Given the description of an element on the screen output the (x, y) to click on. 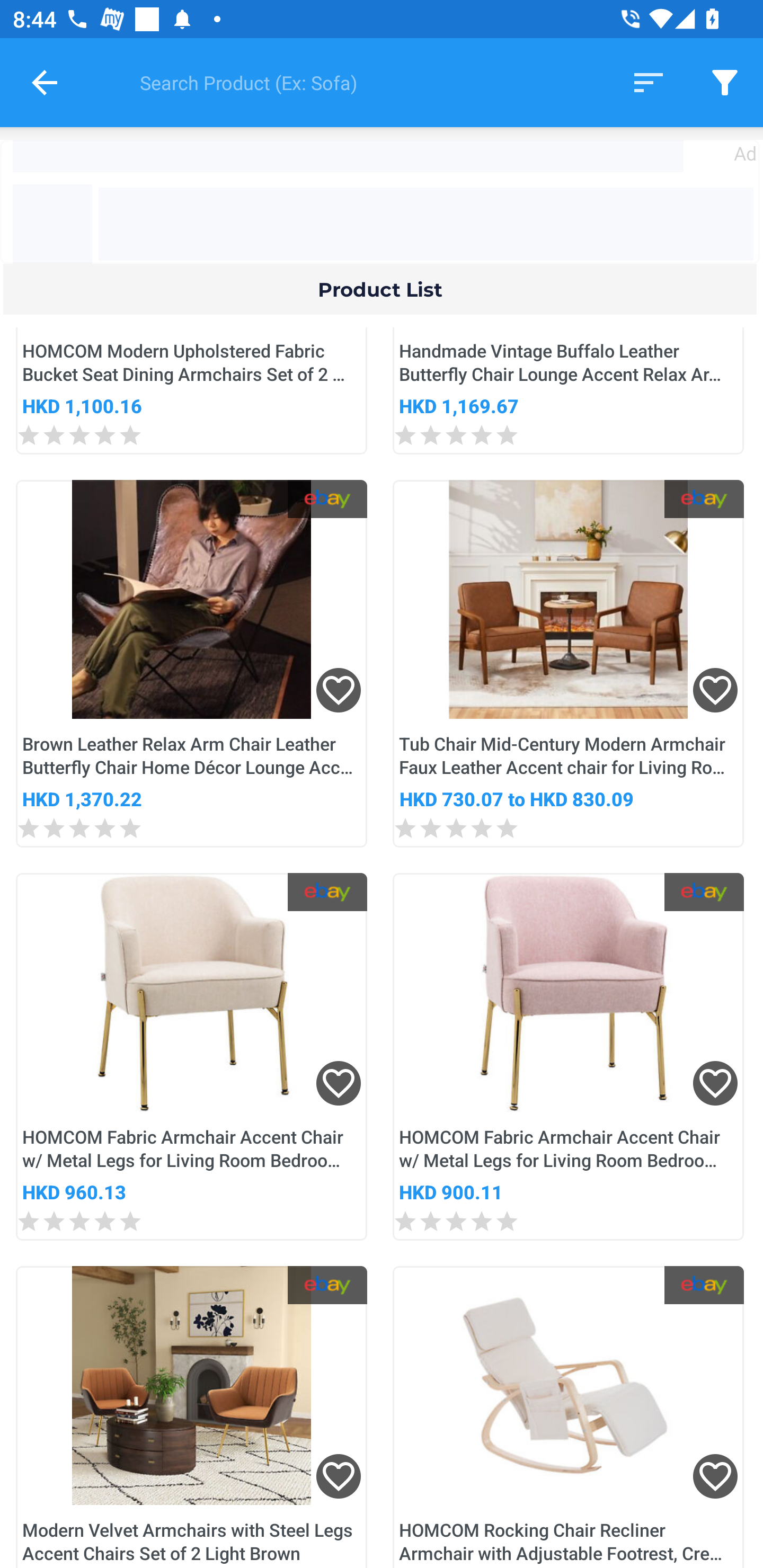
Collapse (44, 82)
short (648, 81)
short (724, 81)
Search Product (Ex: Sofa) (362, 82)
